Given the description of an element on the screen output the (x, y) to click on. 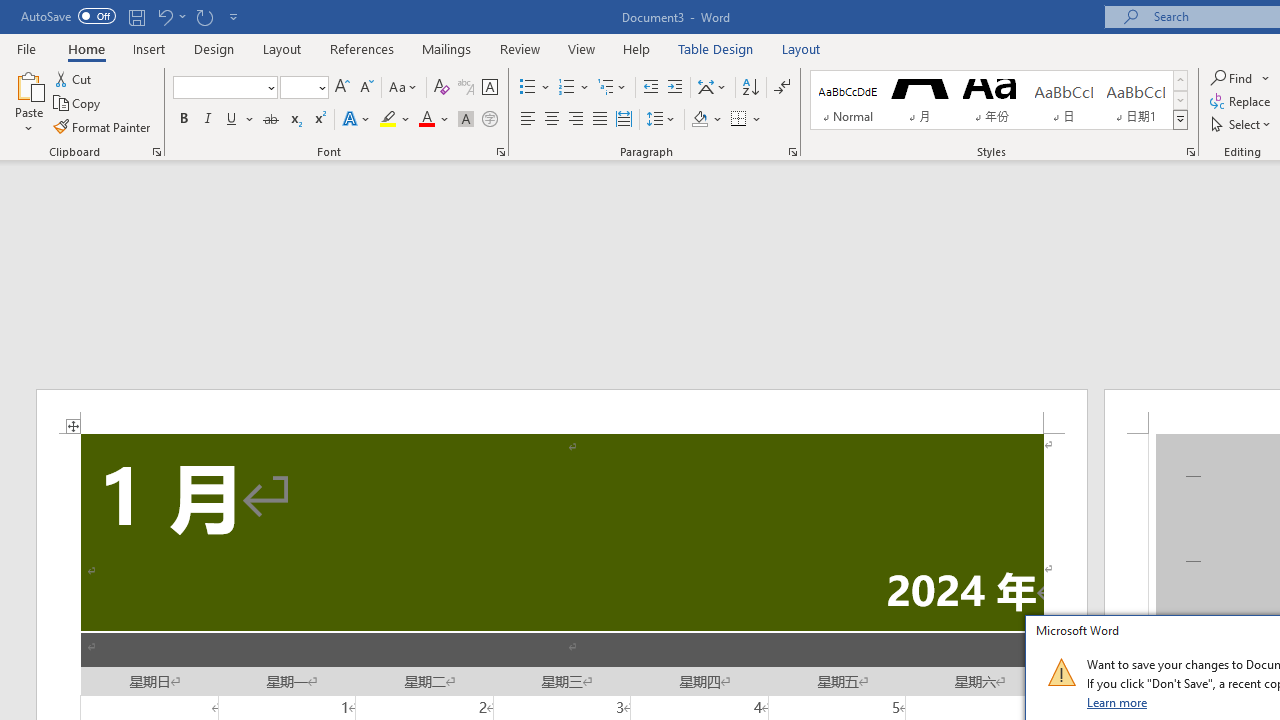
Font Color RGB(255, 0, 0) (426, 119)
